Given the description of an element on the screen output the (x, y) to click on. 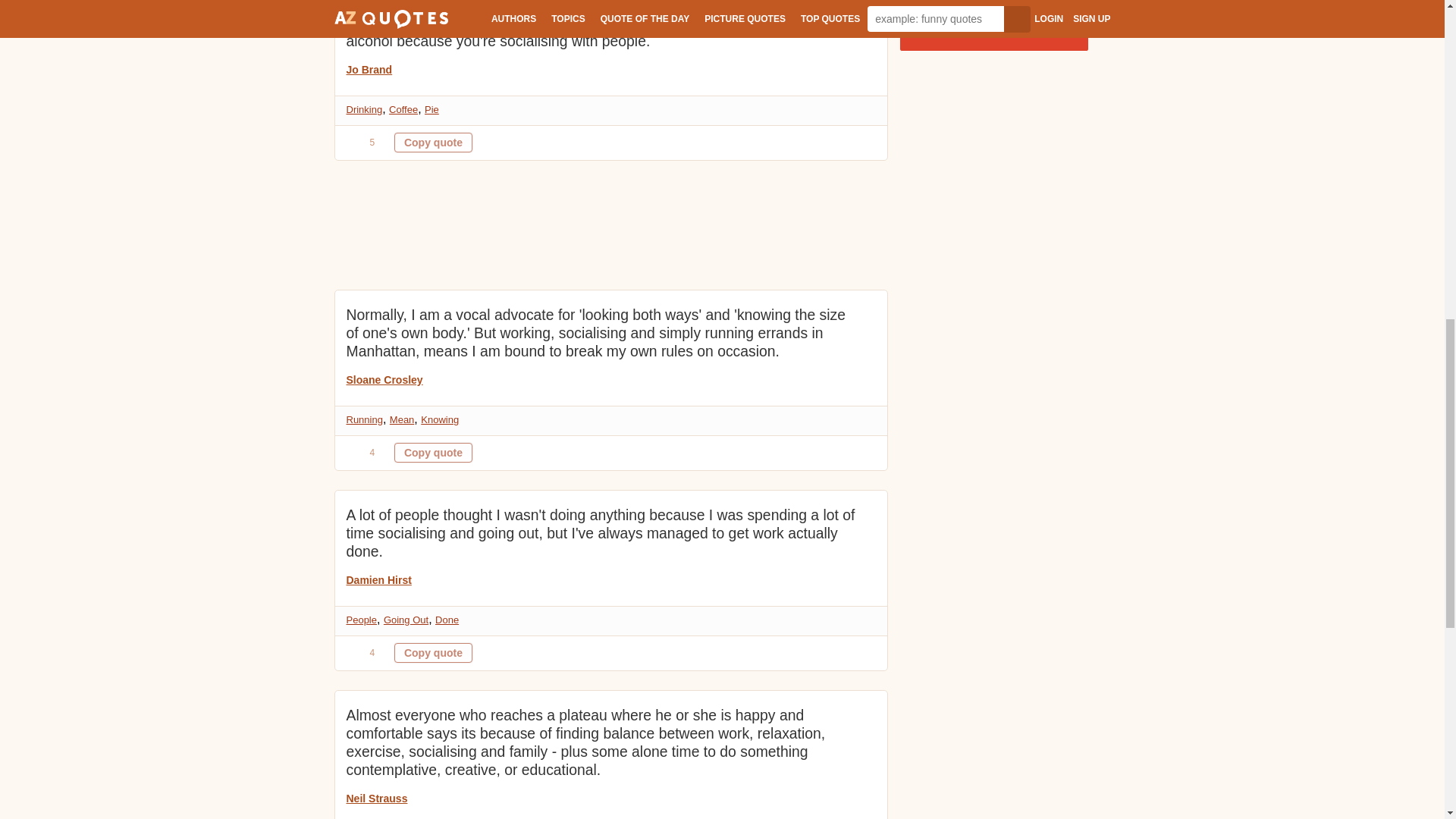
Quote is copied (432, 452)
Quote is copied (432, 142)
Quote is copied (432, 652)
